Given the description of an element on the screen output the (x, y) to click on. 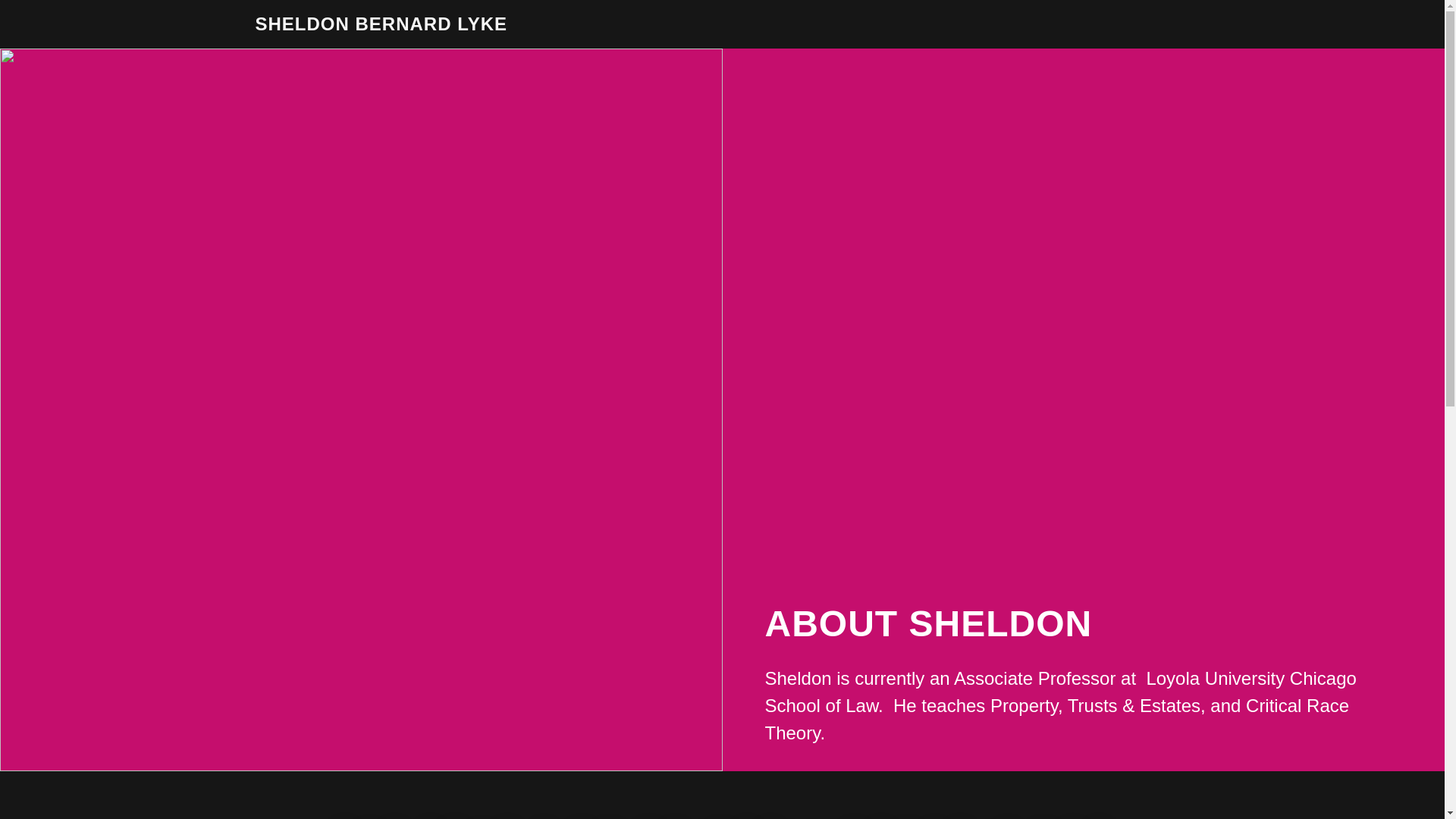
SHELDON BERNARD LYKE (380, 25)
Sheldon Bernard Lyke (380, 25)
